Given the description of an element on the screen output the (x, y) to click on. 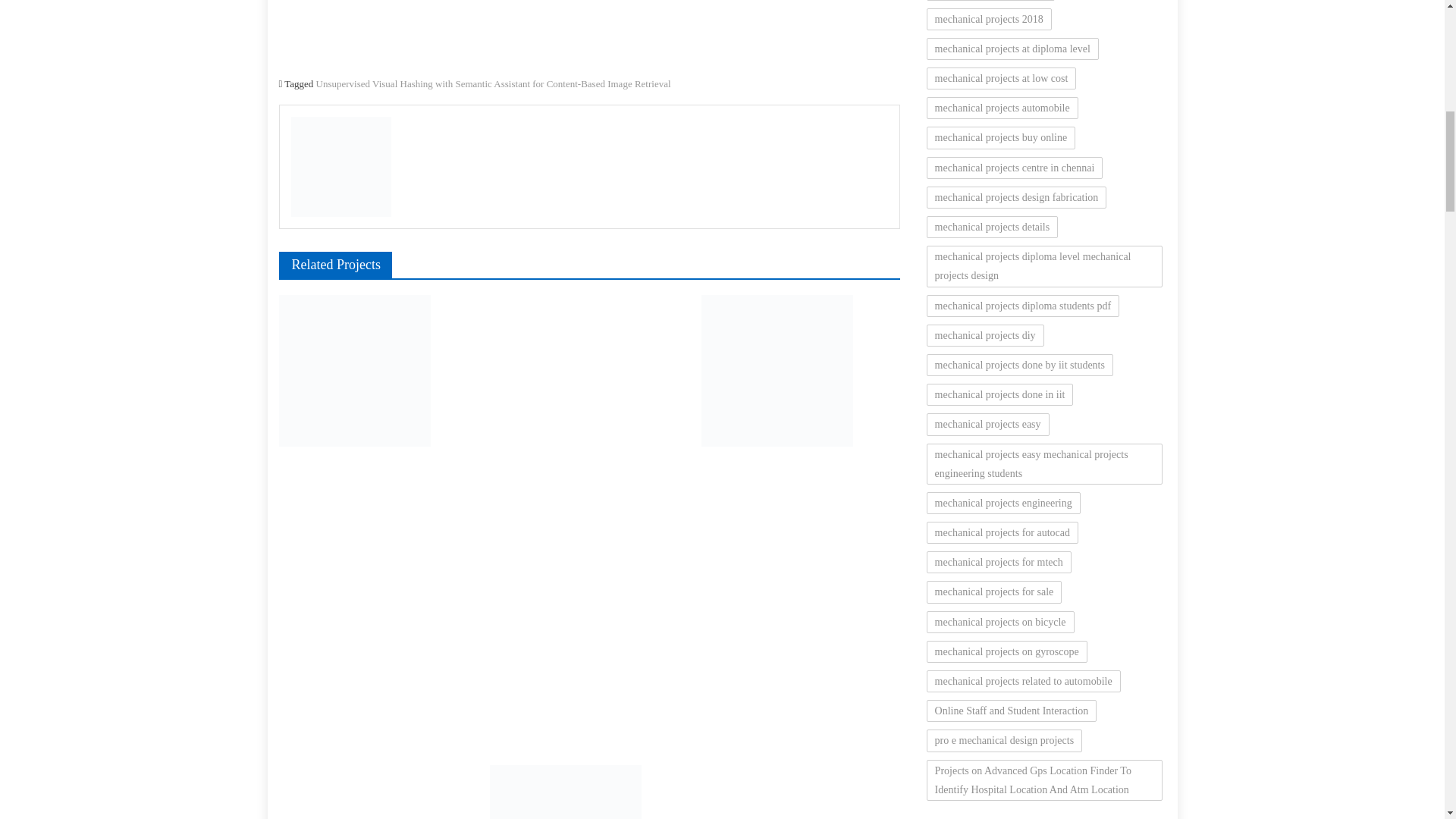
Advertisement (589, 33)
Advertisement (1046, 817)
